Given the description of an element on the screen output the (x, y) to click on. 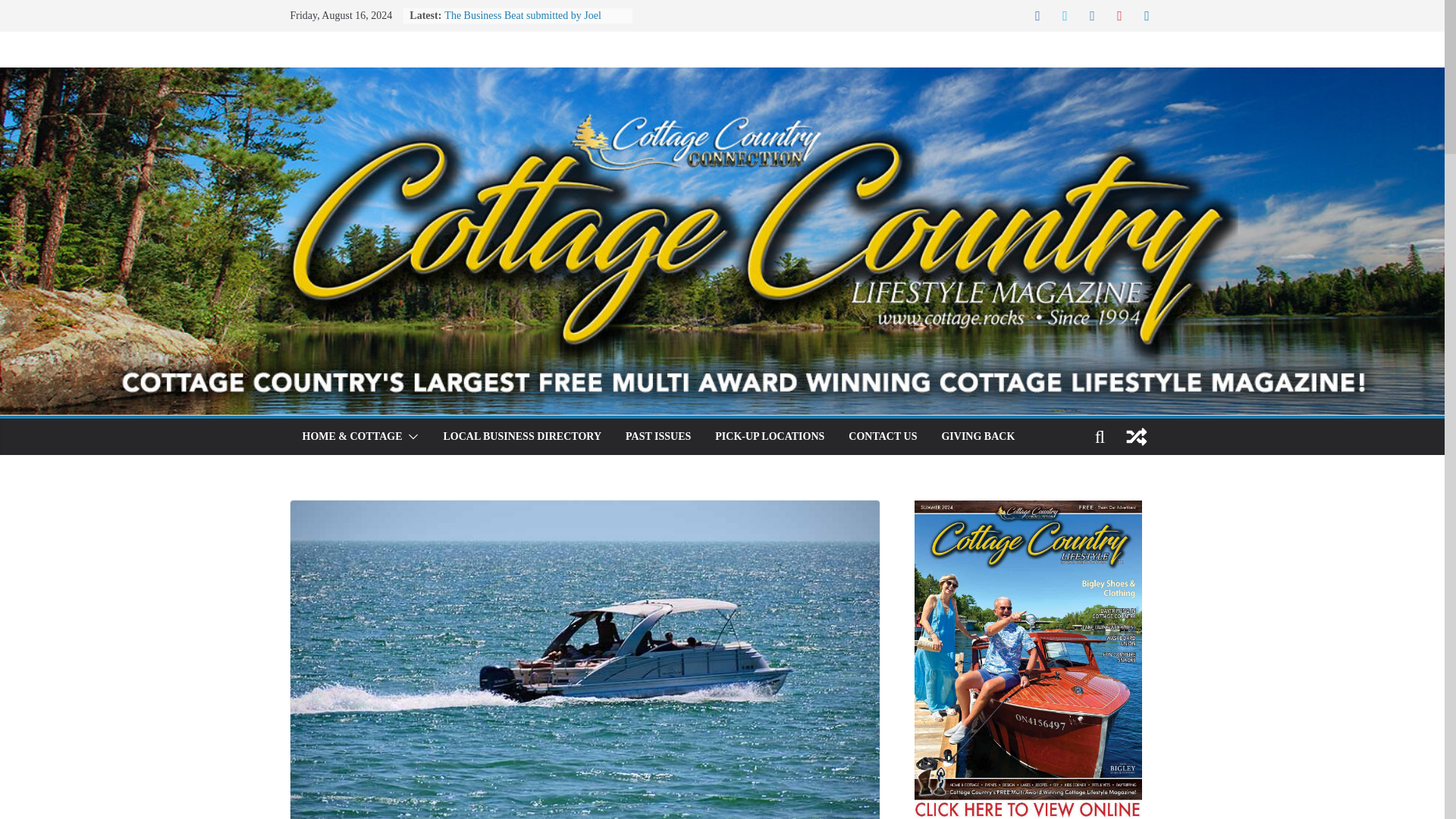
PICK-UP LOCATIONS (769, 436)
The Business Beat submitted by Joel Wiebe (521, 22)
View a random post (1136, 436)
PAST ISSUES (658, 436)
The Business Beat submitted by Joel Wiebe (521, 22)
LOCAL BUSINESS DIRECTORY (521, 436)
CONTACT US (882, 436)
GIVING BACK (977, 436)
